Given the description of an element on the screen output the (x, y) to click on. 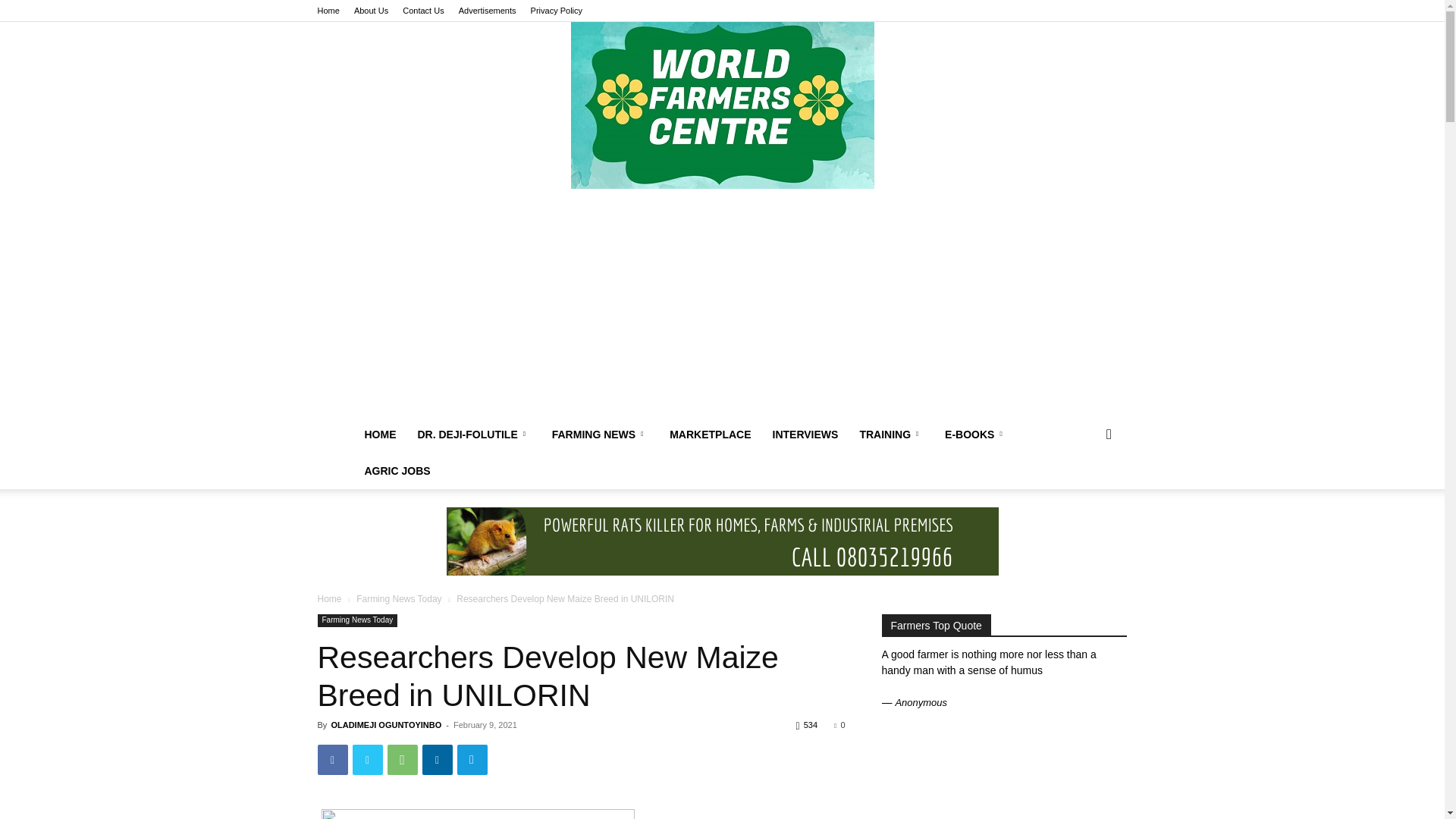
View all posts in Farming News Today (399, 598)
About Us (370, 10)
Home (328, 10)
Privacy Policy (556, 10)
Contact Us (423, 10)
Facebook (332, 759)
Twitter (366, 759)
Advertisements (487, 10)
WhatsApp (401, 759)
Linkedin (436, 759)
